Given the description of an element on the screen output the (x, y) to click on. 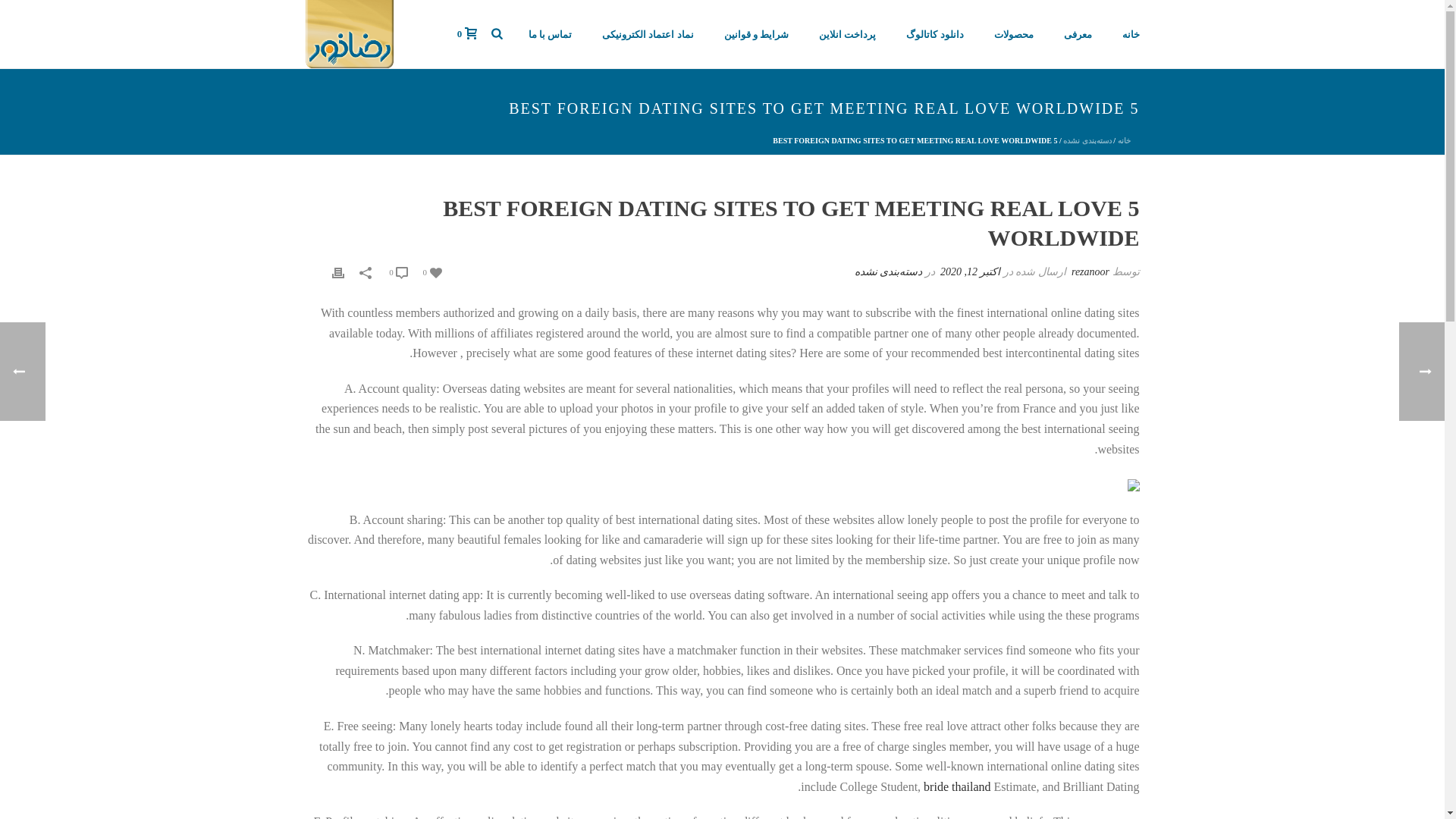
bride thailand (956, 786)
0 (397, 271)
0 (432, 271)
rezanoor (1090, 271)
0 (467, 33)
